Given the description of an element on the screen output the (x, y) to click on. 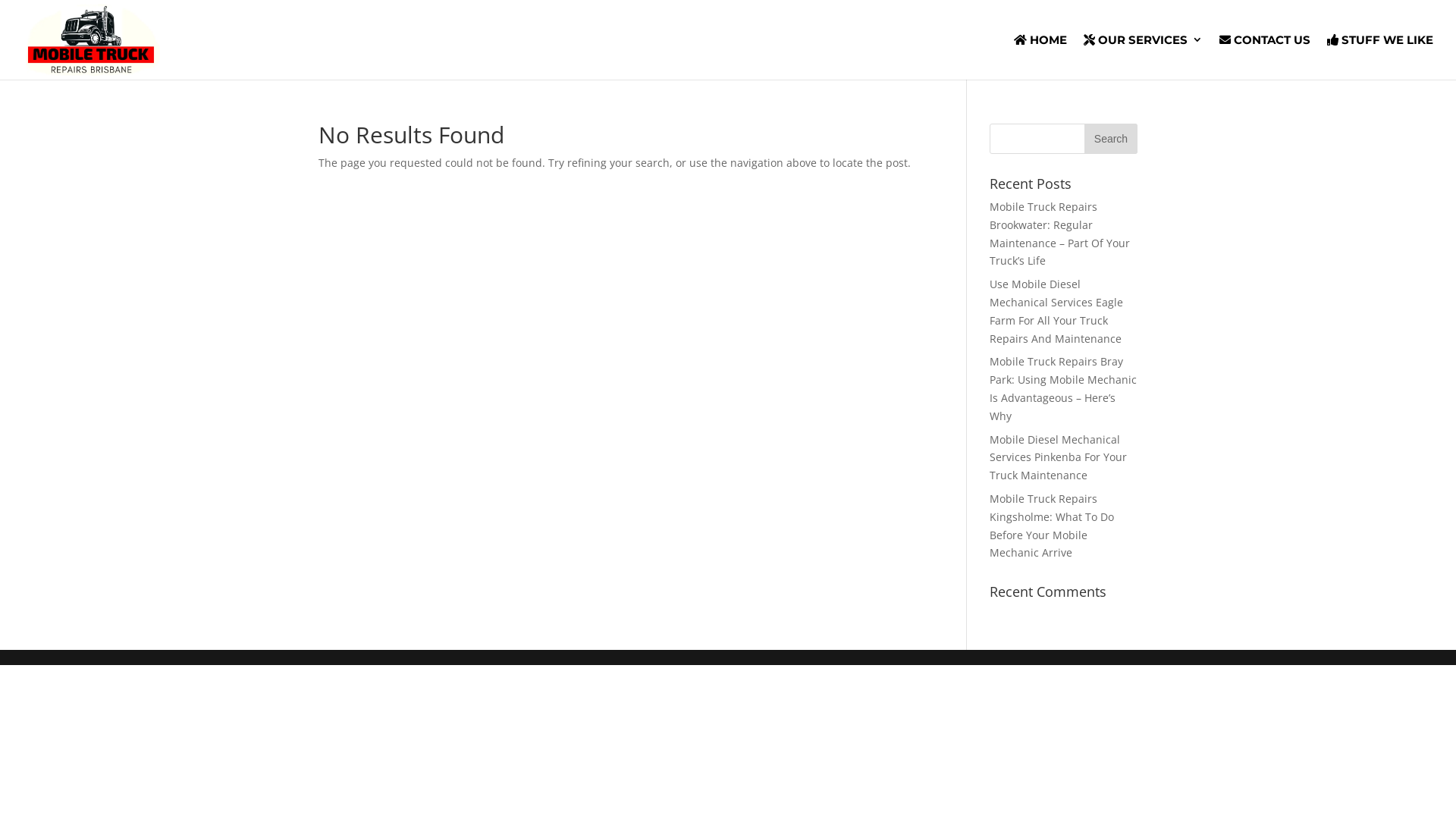
STUFF WE LIKE Element type: text (1380, 56)
CONTACT US Element type: text (1264, 56)
OUR SERVICES Element type: text (1142, 56)
Search Element type: text (1110, 138)
HOME Element type: text (1039, 56)
